Given the description of an element on the screen output the (x, y) to click on. 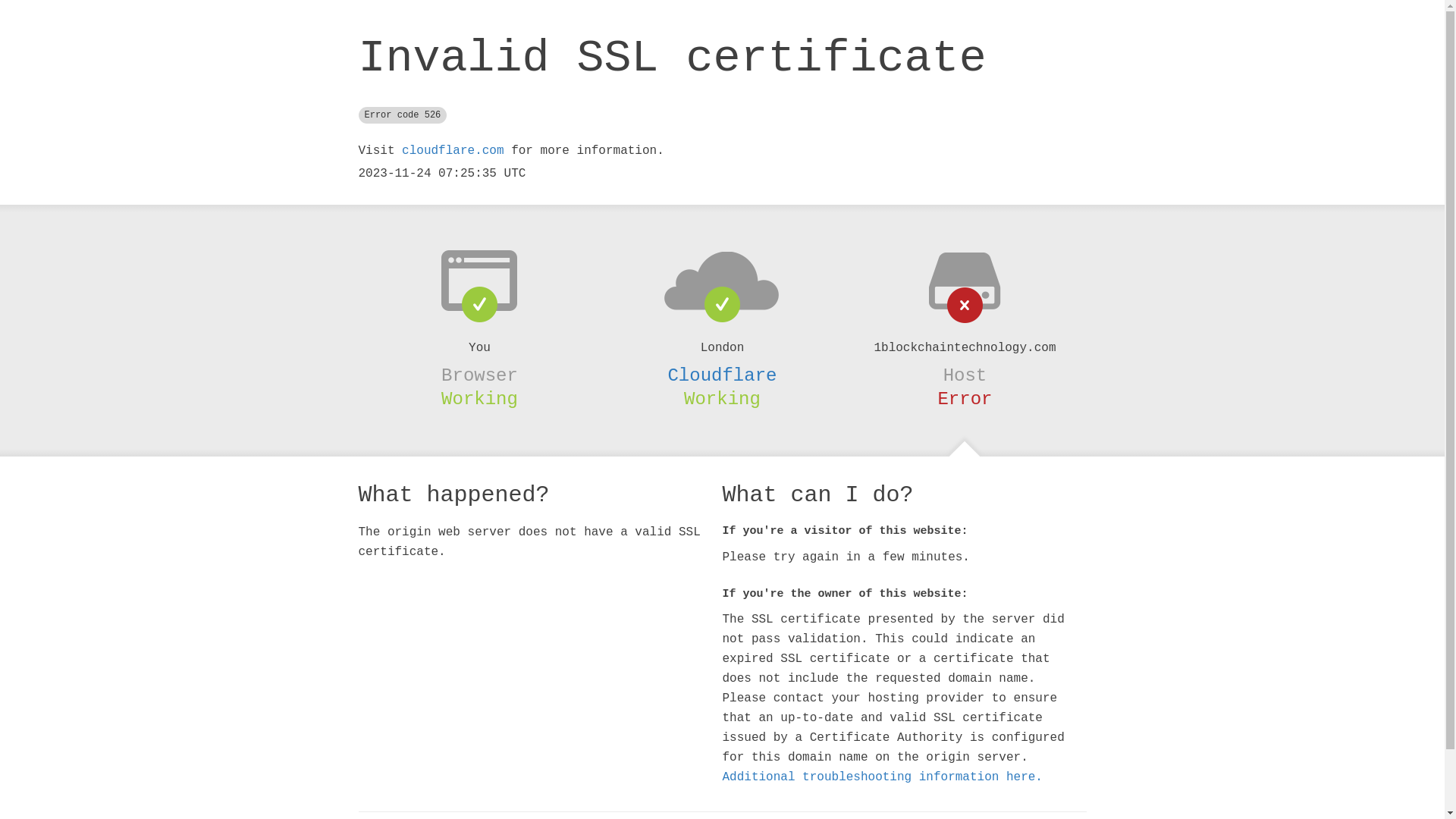
Additional troubleshooting information here. Element type: text (881, 777)
Cloudflare Element type: text (721, 375)
cloudflare.com Element type: text (452, 150)
